Given the description of an element on the screen output the (x, y) to click on. 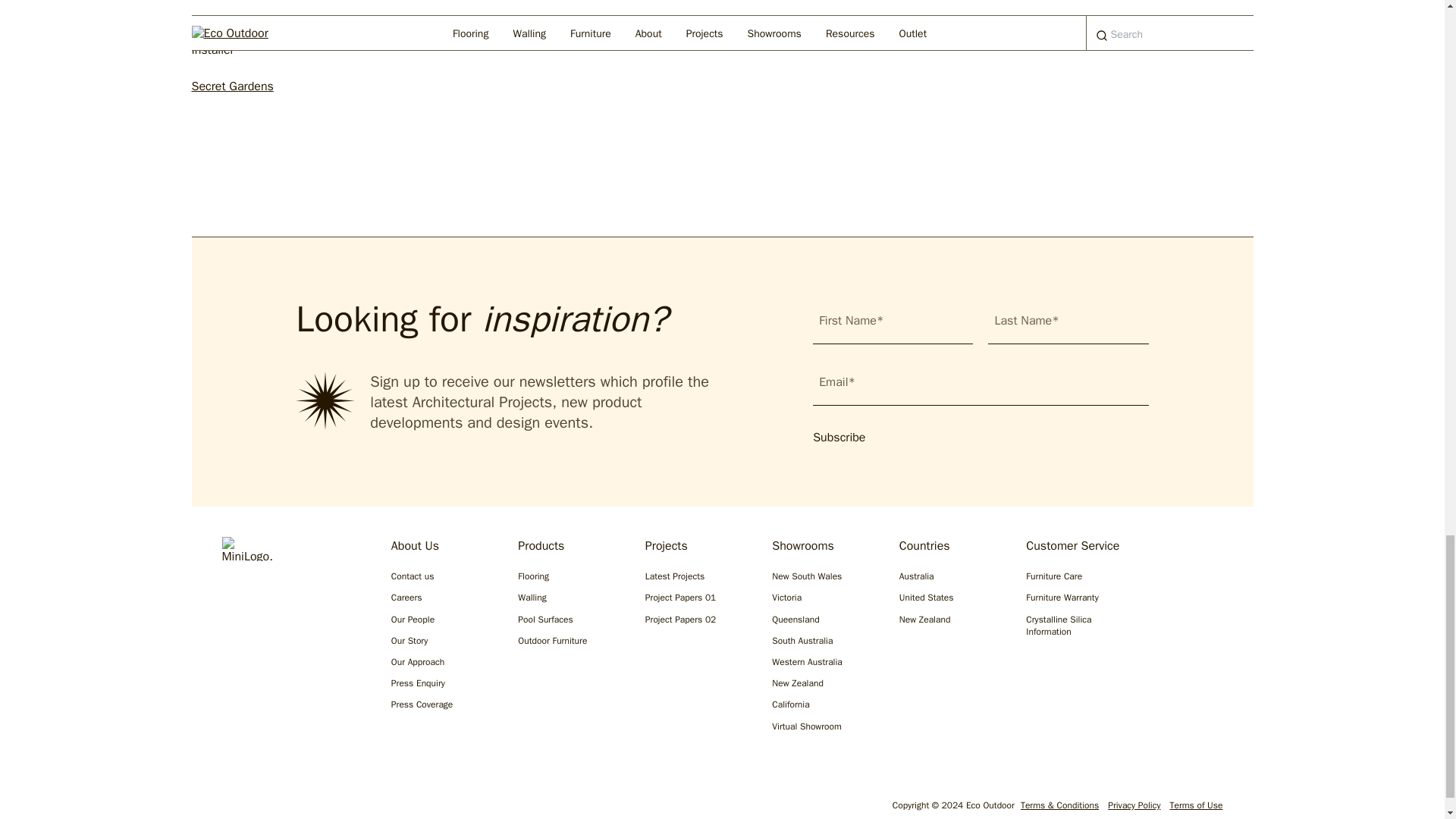
LinkedIn (327, 808)
MiniLogo.svg (245, 549)
YouTube (375, 808)
Instagram (230, 808)
Facebook (278, 808)
